Given the description of an element on the screen output the (x, y) to click on. 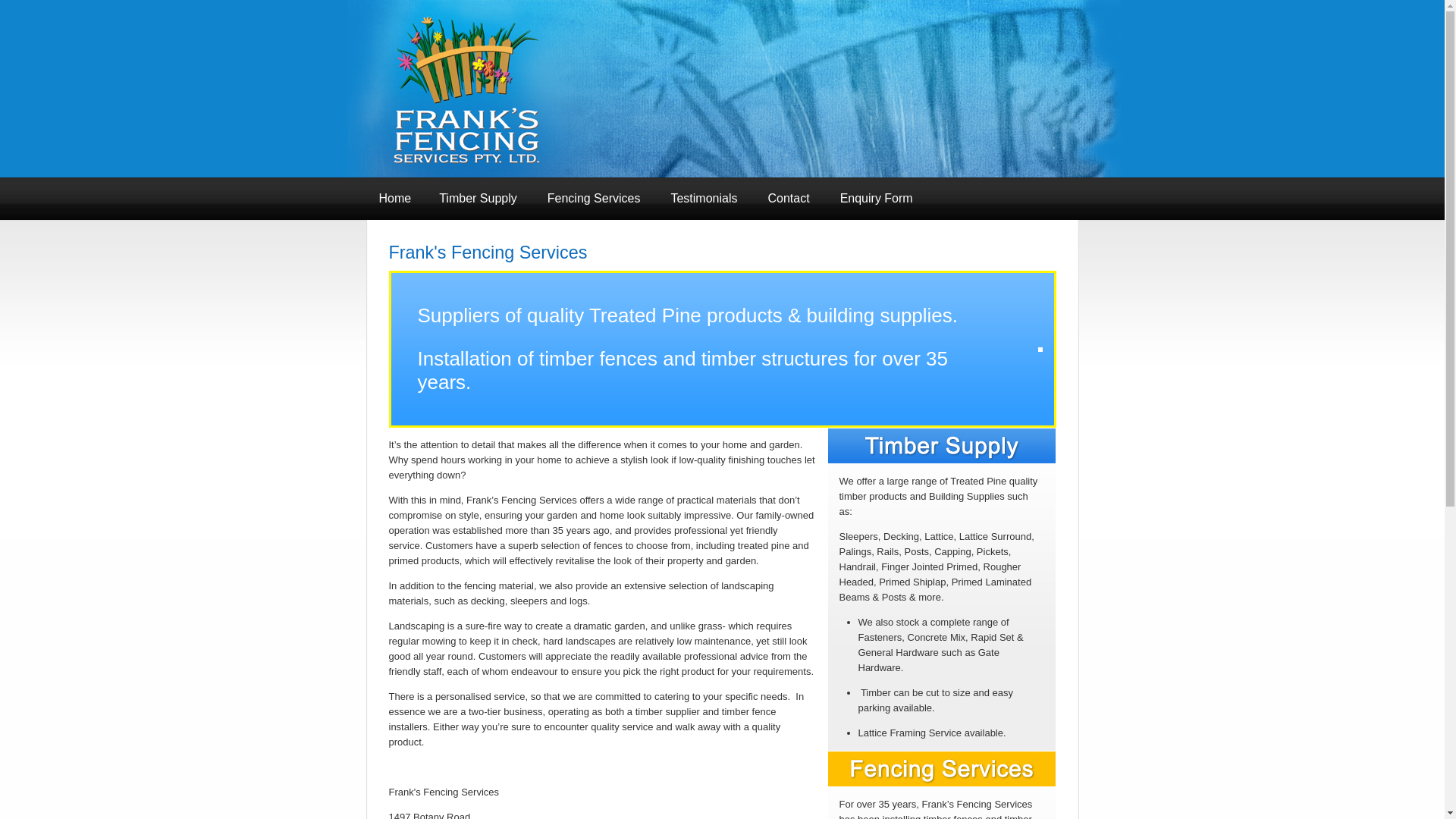
Fencing Services Element type: text (593, 198)
Contact Element type: text (788, 198)
Timber Supply Element type: text (477, 198)
Testimonials Element type: text (703, 198)
Franks Fencing Element type: hover (733, 88)
Enquiry Form Element type: text (876, 198)
Home Element type: text (394, 198)
